Given the description of an element on the screen output the (x, y) to click on. 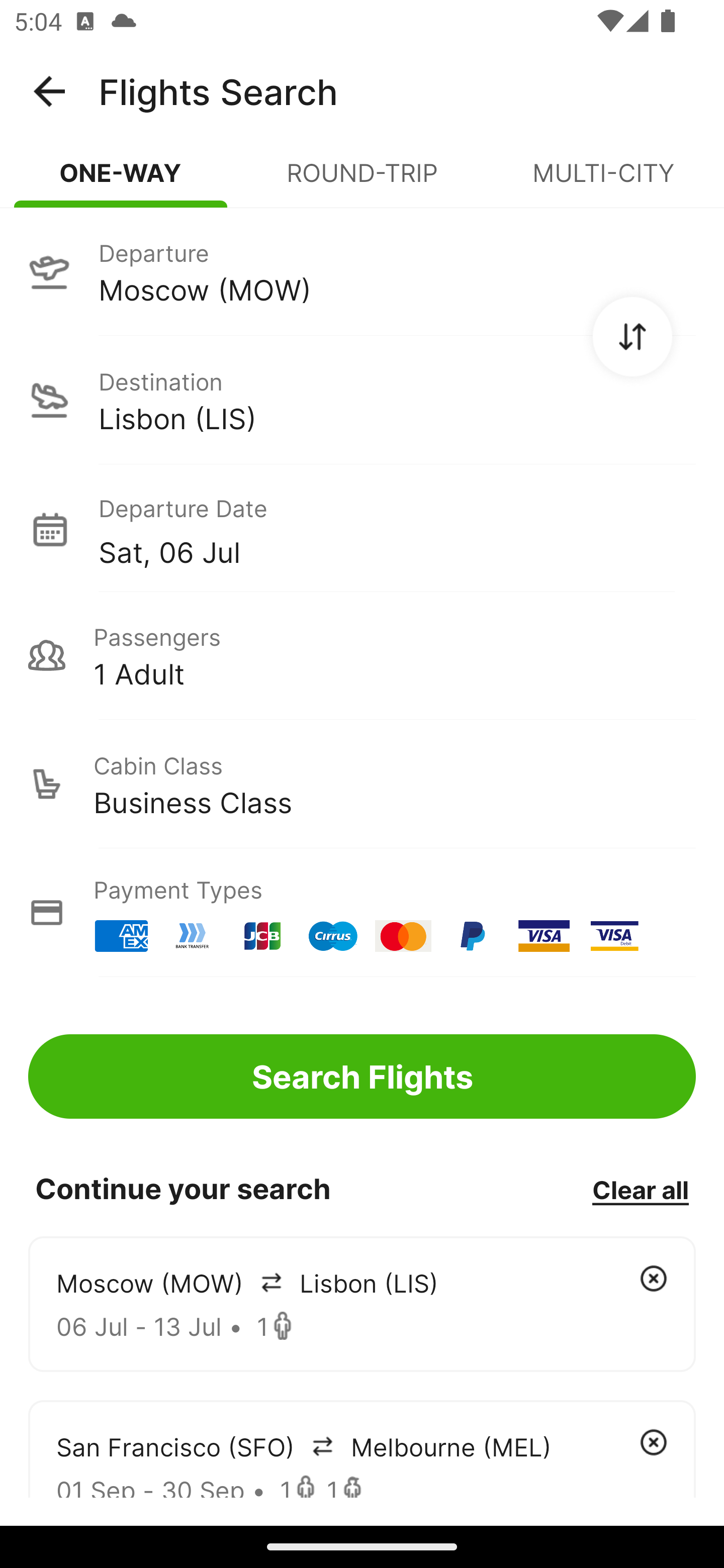
ONE-WAY (120, 180)
ROUND-TRIP (361, 180)
MULTI-CITY (603, 180)
Departure Moscow (MOW) (362, 270)
Destination Lisbon (LIS) (362, 400)
Departure Date Sat, 06 Jul (396, 528)
Passengers 1 Adult (362, 655)
Cabin Class Business Class (362, 783)
Payment Types (362, 912)
Search Flights (361, 1075)
Clear all (640, 1189)
